Given the description of an element on the screen output the (x, y) to click on. 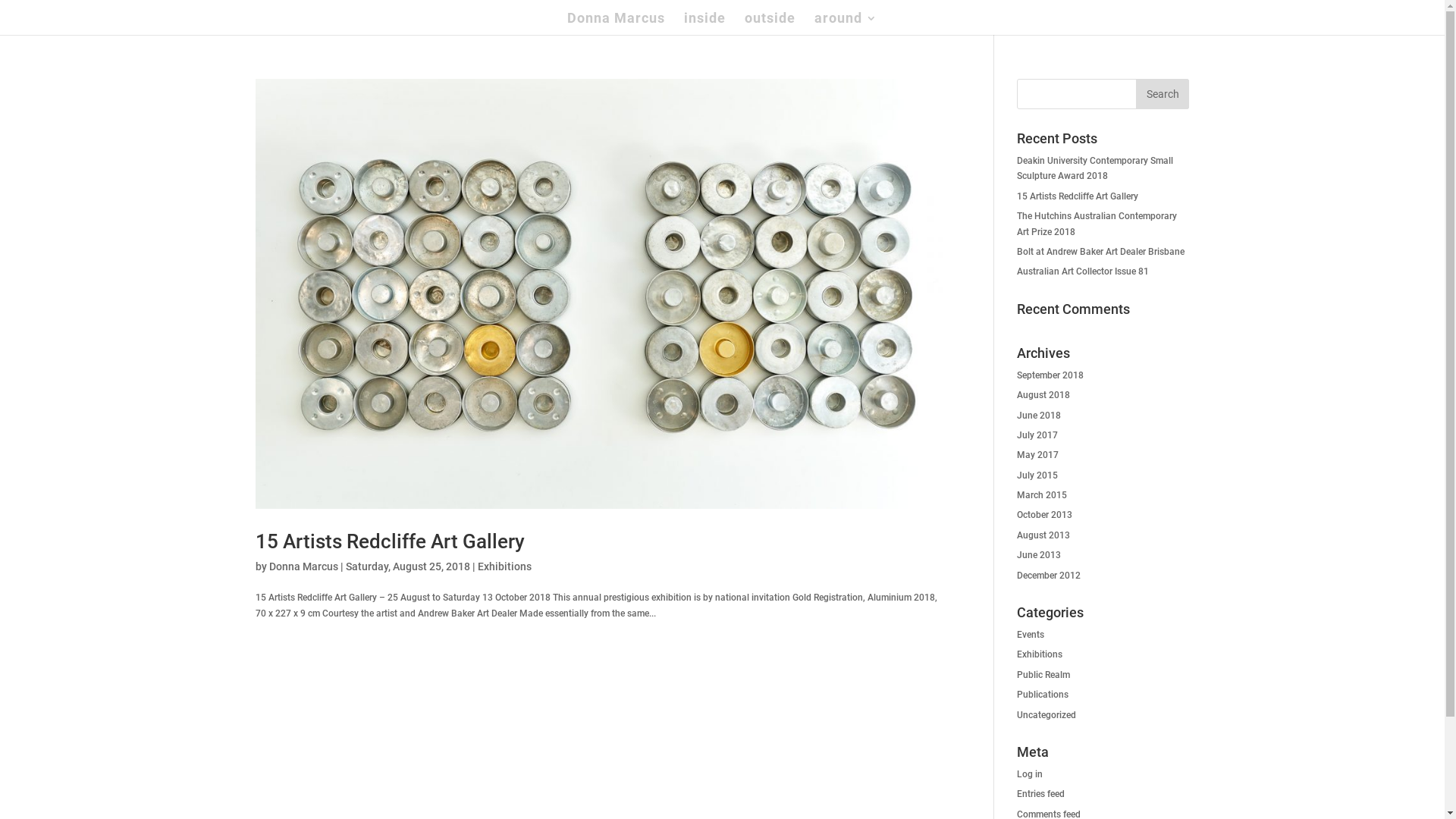
August 2018 Element type: text (1043, 394)
15 Artists Redcliffe Art Gallery Element type: text (1077, 196)
Search Element type: text (1162, 93)
October 2013 Element type: text (1044, 514)
March 2015 Element type: text (1041, 494)
June 2018 Element type: text (1038, 415)
Uncategorized Element type: text (1046, 714)
Exhibitions Element type: text (504, 566)
June 2013 Element type: text (1038, 554)
Bolt at Andrew Baker Art Dealer Brisbane Element type: text (1100, 251)
Publications Element type: text (1042, 694)
around Element type: text (845, 23)
Donna Marcus Element type: text (616, 23)
December 2012 Element type: text (1048, 575)
outside Element type: text (769, 23)
September 2018 Element type: text (1049, 375)
The Hutchins Australian Contemporary Art Prize 2018 Element type: text (1096, 223)
May 2017 Element type: text (1037, 454)
Public Realm Element type: text (1043, 674)
Australian Art Collector Issue 81 Element type: text (1082, 271)
Deakin University Contemporary Small Sculpture Award 2018 Element type: text (1094, 168)
Entries feed Element type: text (1040, 793)
15 Artists Redcliffe Art Gallery Element type: text (389, 541)
inside Element type: text (704, 23)
Log in Element type: text (1029, 773)
Events Element type: text (1030, 634)
August 2013 Element type: text (1043, 535)
Donna Marcus Element type: text (302, 566)
Exhibitions Element type: text (1039, 654)
July 2017 Element type: text (1036, 434)
July 2015 Element type: text (1036, 475)
